Given the description of an element on the screen output the (x, y) to click on. 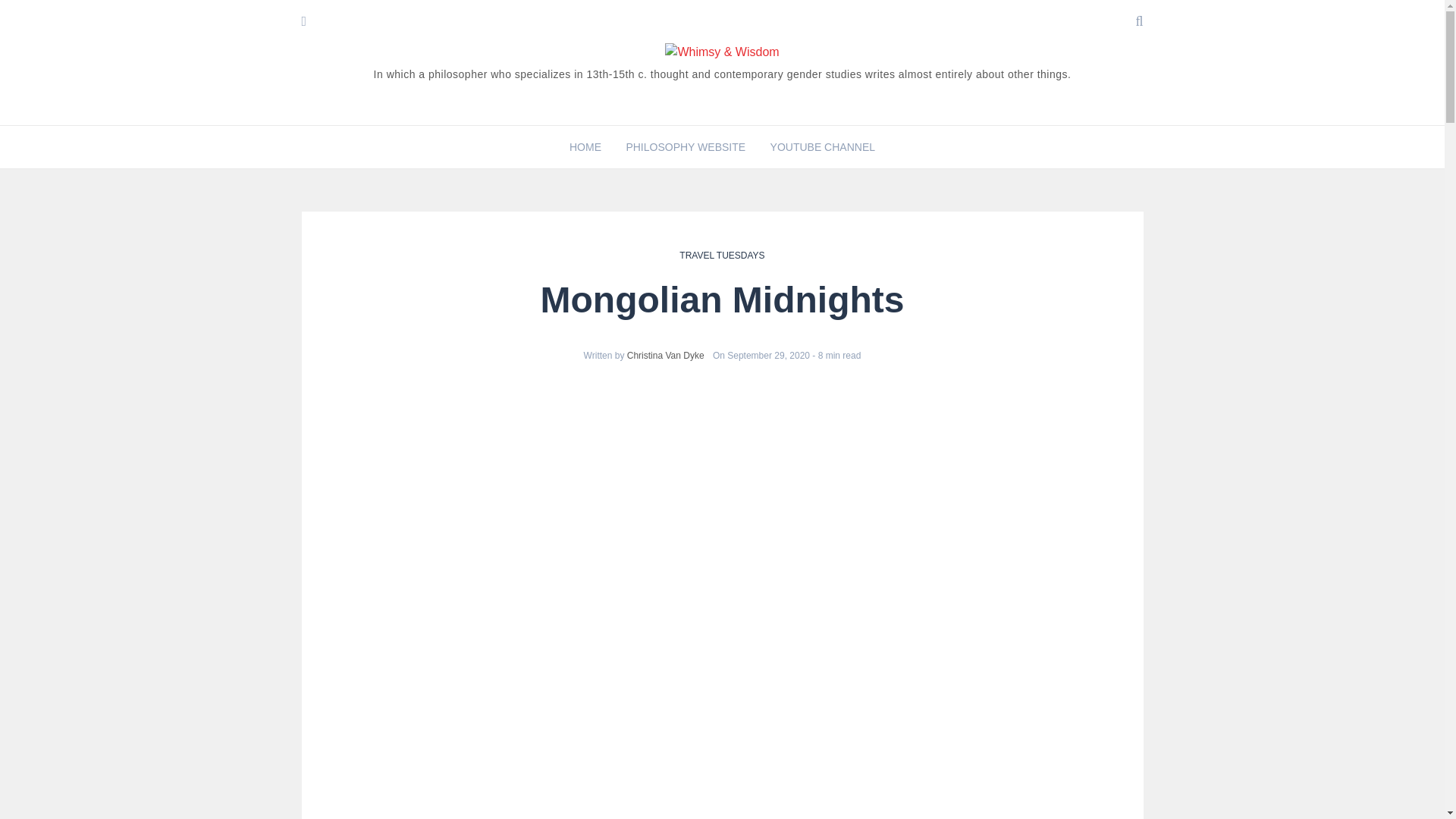
TRAVEL TUESDAYS (721, 255)
HOME (585, 146)
YOUTUBE CHANNEL (822, 146)
Christina Van Dyke (665, 355)
PHILOSOPHY WEBSITE (685, 146)
